Given the description of an element on the screen output the (x, y) to click on. 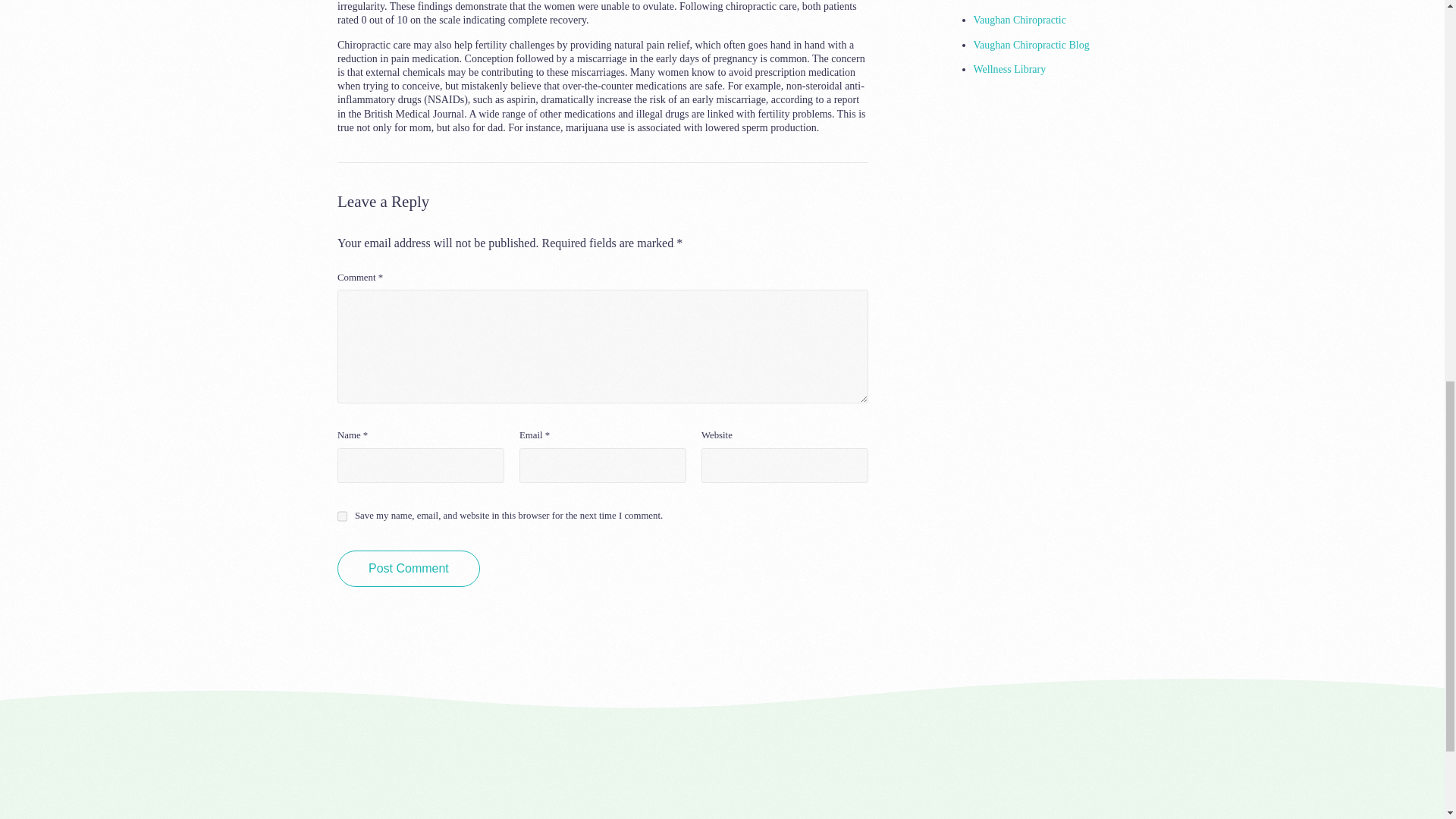
yes (342, 516)
Vaughan Chiropractic Blog (1031, 44)
Post Comment (408, 568)
Vaughan Chiropractic (1019, 20)
Post Comment (408, 569)
